Given the description of an element on the screen output the (x, y) to click on. 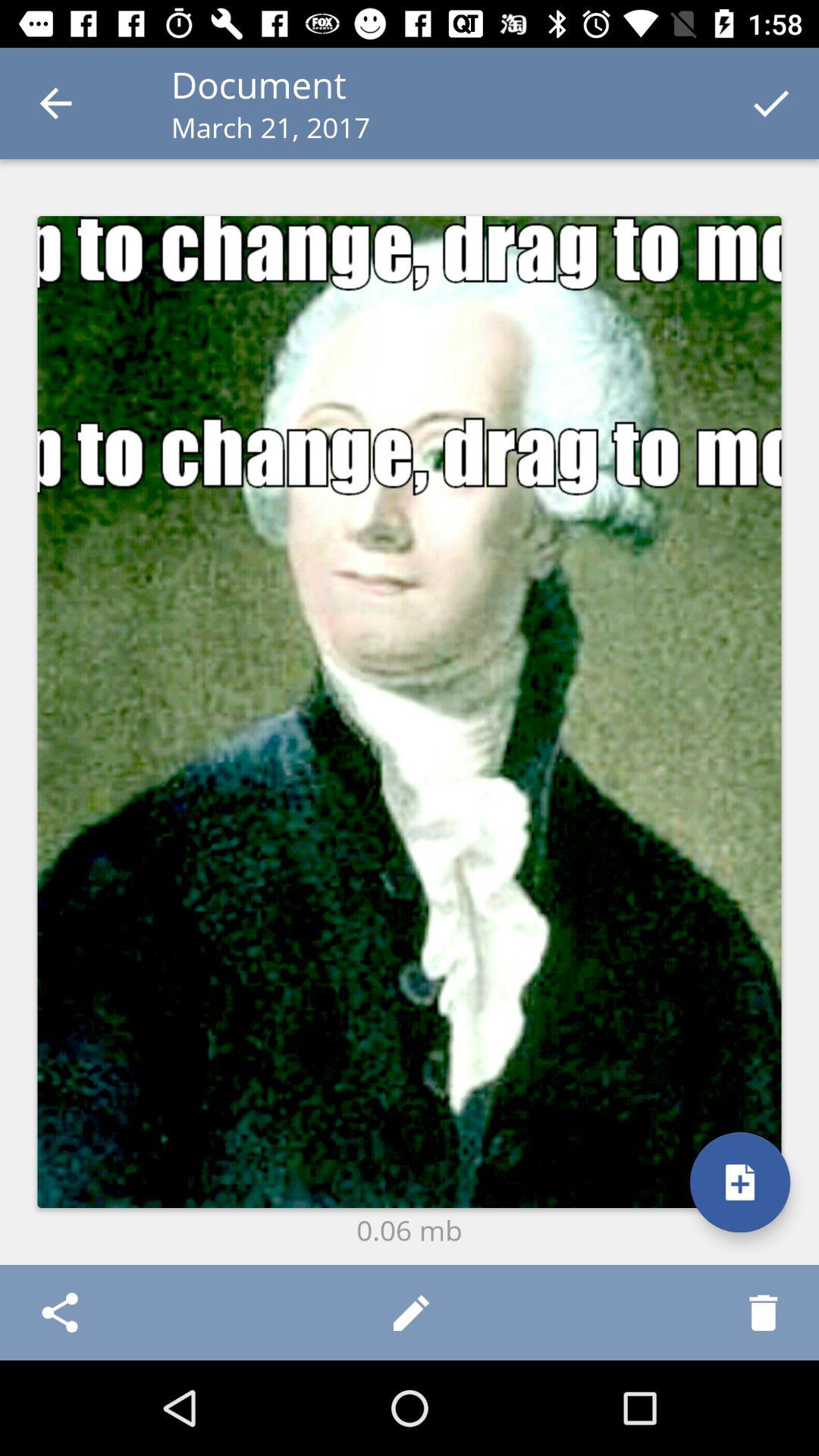
choose the icon at the center (409, 712)
